Given the description of an element on the screen output the (x, y) to click on. 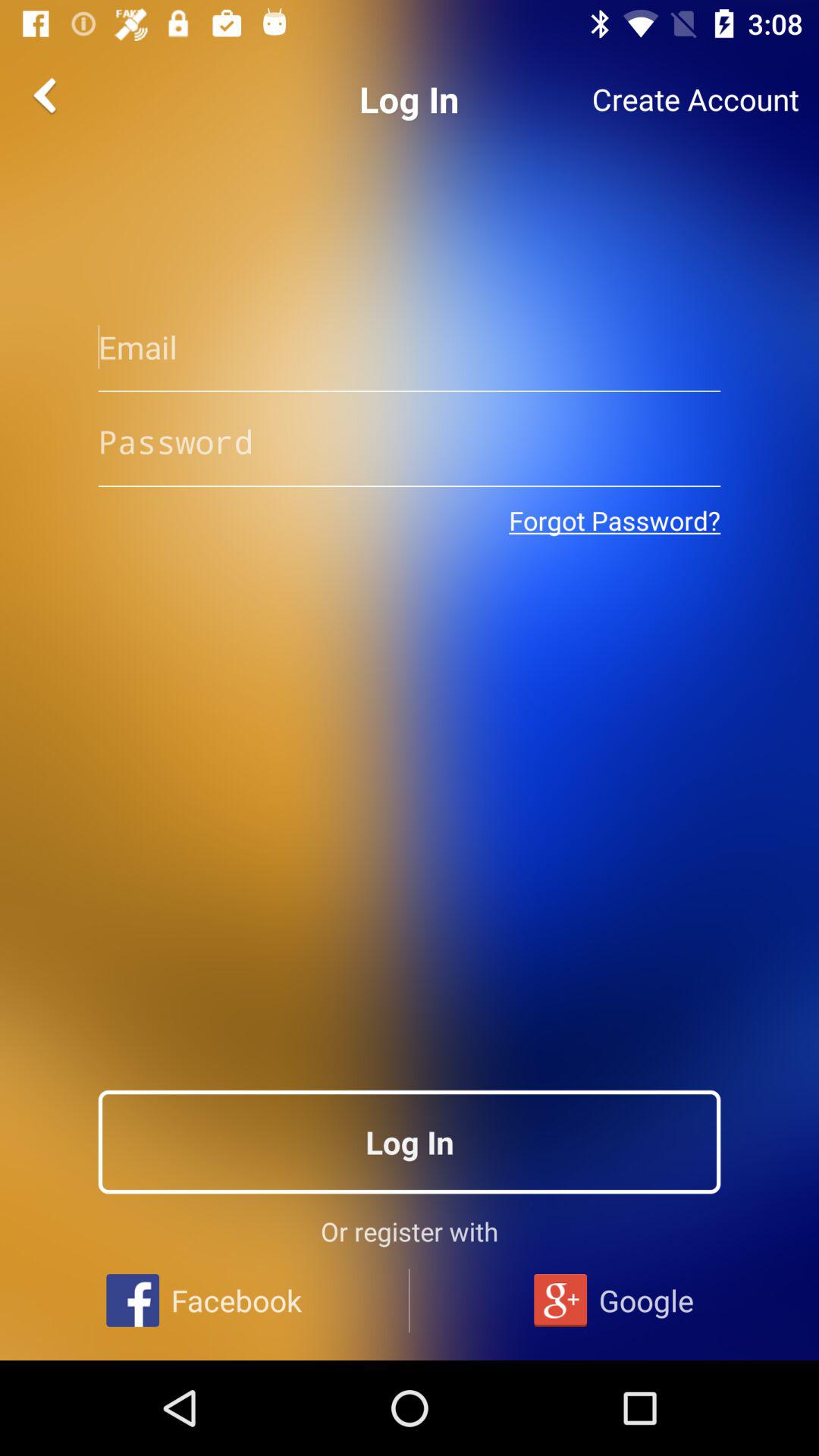
enter email (409, 347)
